Given the description of an element on the screen output the (x, y) to click on. 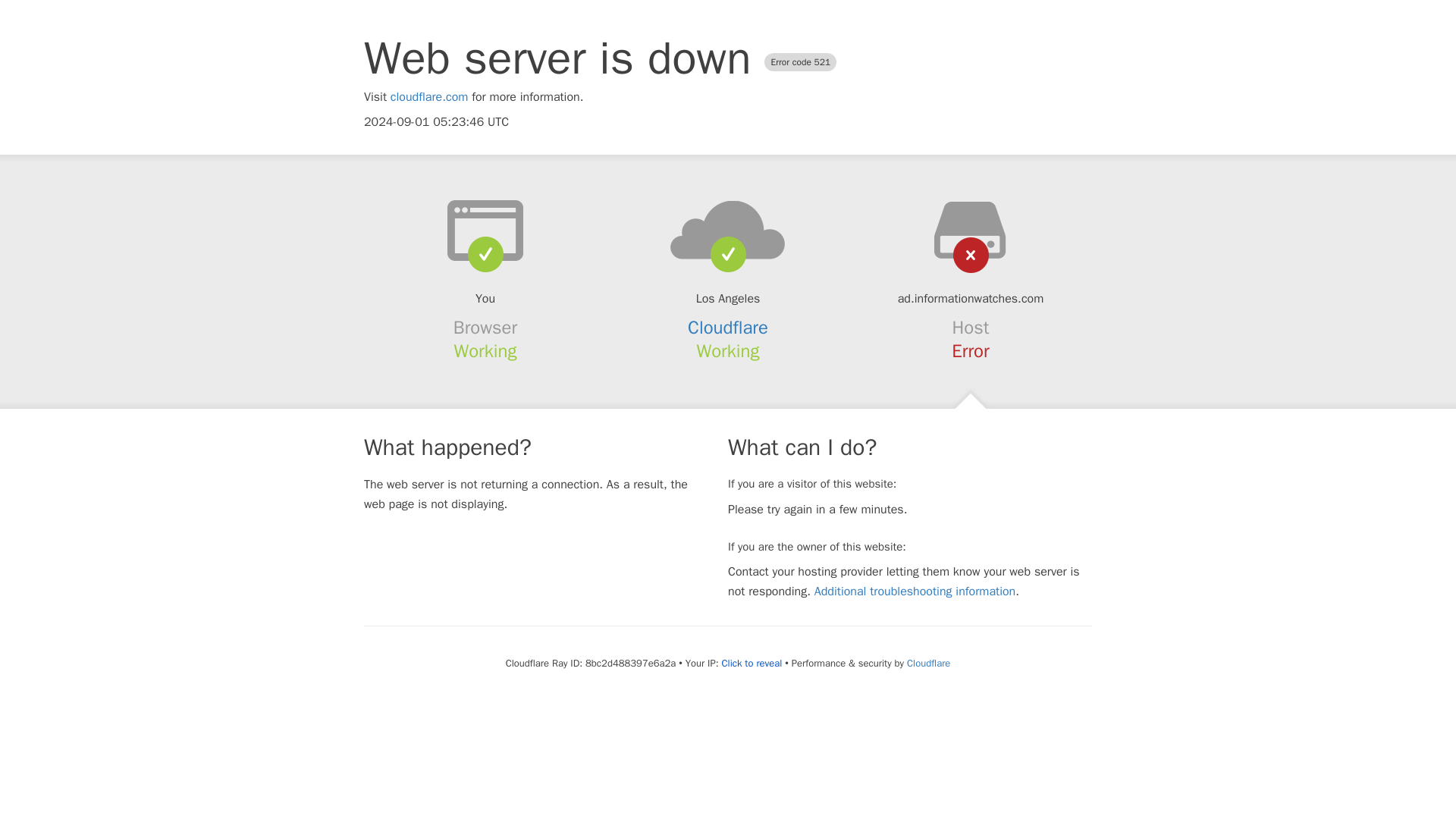
Cloudflare (928, 662)
Click to reveal (750, 663)
Additional troubleshooting information (913, 590)
Cloudflare (727, 327)
cloudflare.com (429, 96)
